Given the description of an element on the screen output the (x, y) to click on. 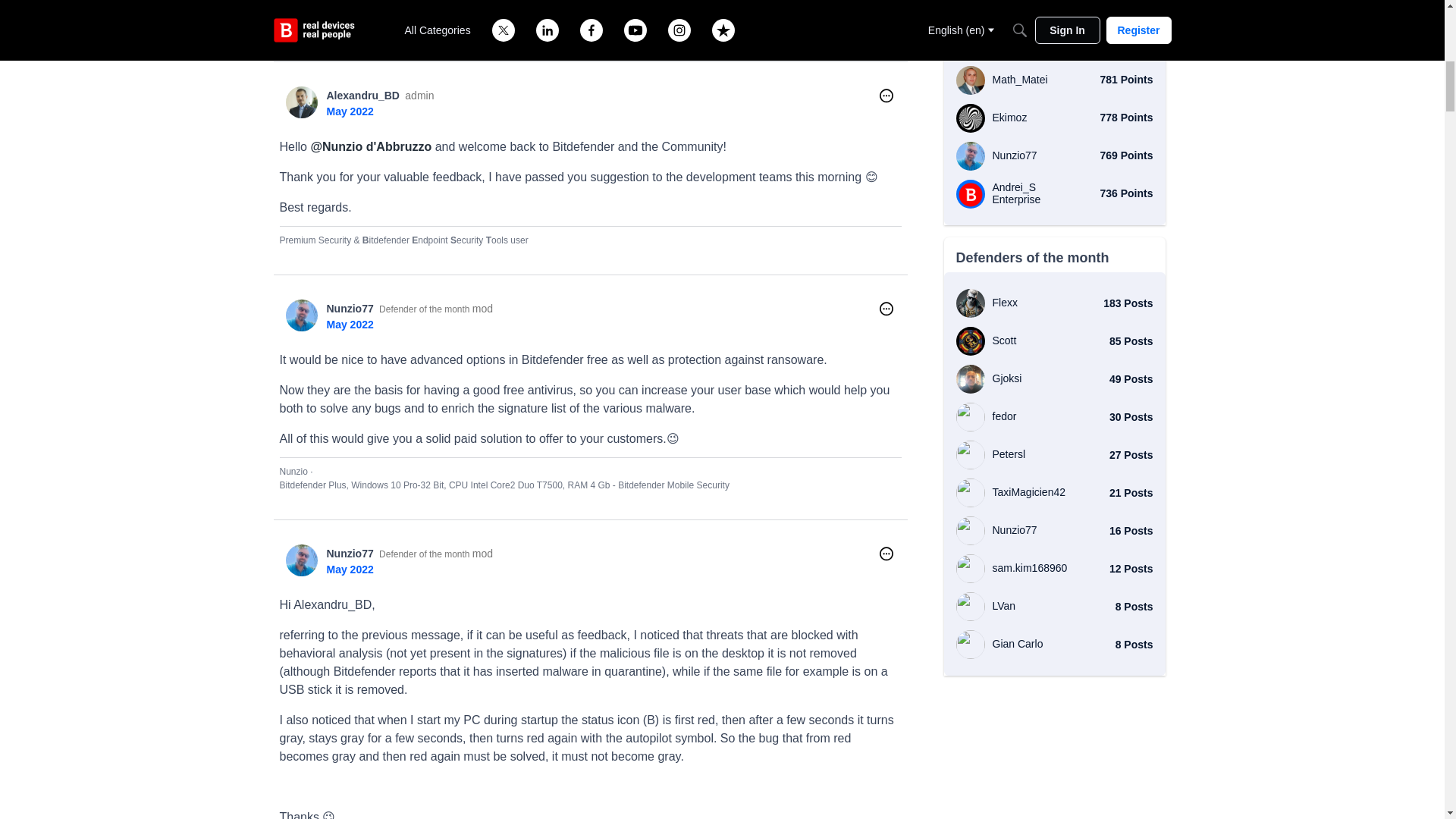
May 2022 (349, 111)
Nunzio77 (349, 308)
Moderator (482, 308)
May 9, 2022 2:08PM (349, 111)
Admin (418, 95)
May 24, 2022 9:27PM (349, 569)
May 2022 (349, 324)
May 2022 (349, 569)
Nunzio77 (301, 315)
Nunzio77 (301, 560)
Nunzio77 (349, 553)
May 22, 2022 3:20PM (349, 324)
Moderator (482, 553)
